Given the description of an element on the screen output the (x, y) to click on. 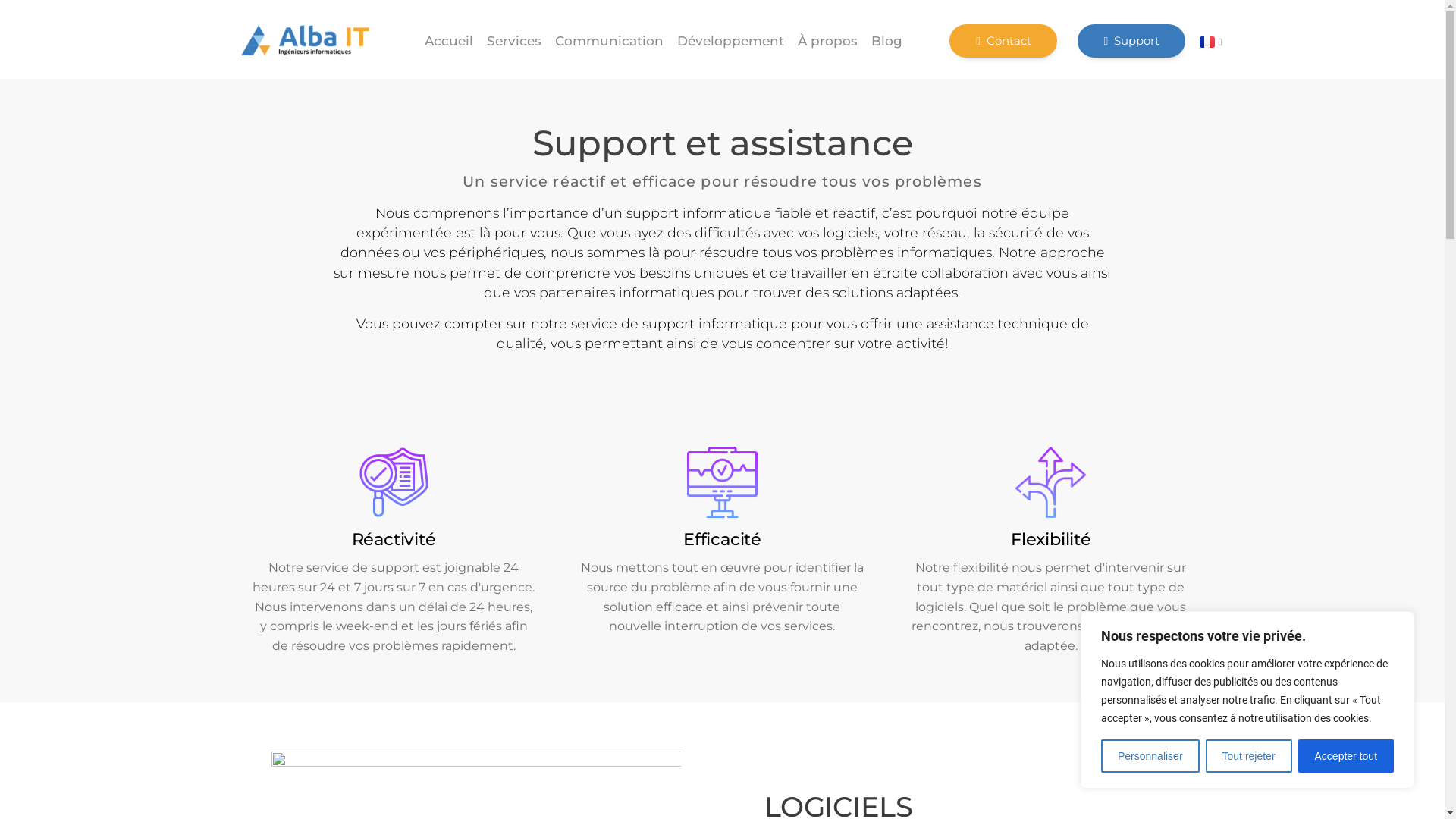
Contact Element type: text (1002, 40)
Communication Element type: text (608, 40)
Blog Element type: text (886, 40)
Services Element type: text (513, 40)
Support Element type: text (1131, 40)
Personnaliser Element type: text (1150, 755)
Accueil Element type: text (448, 40)
Accepter tout Element type: text (1345, 755)
Tout rejeter Element type: text (1248, 755)
